Given the description of an element on the screen output the (x, y) to click on. 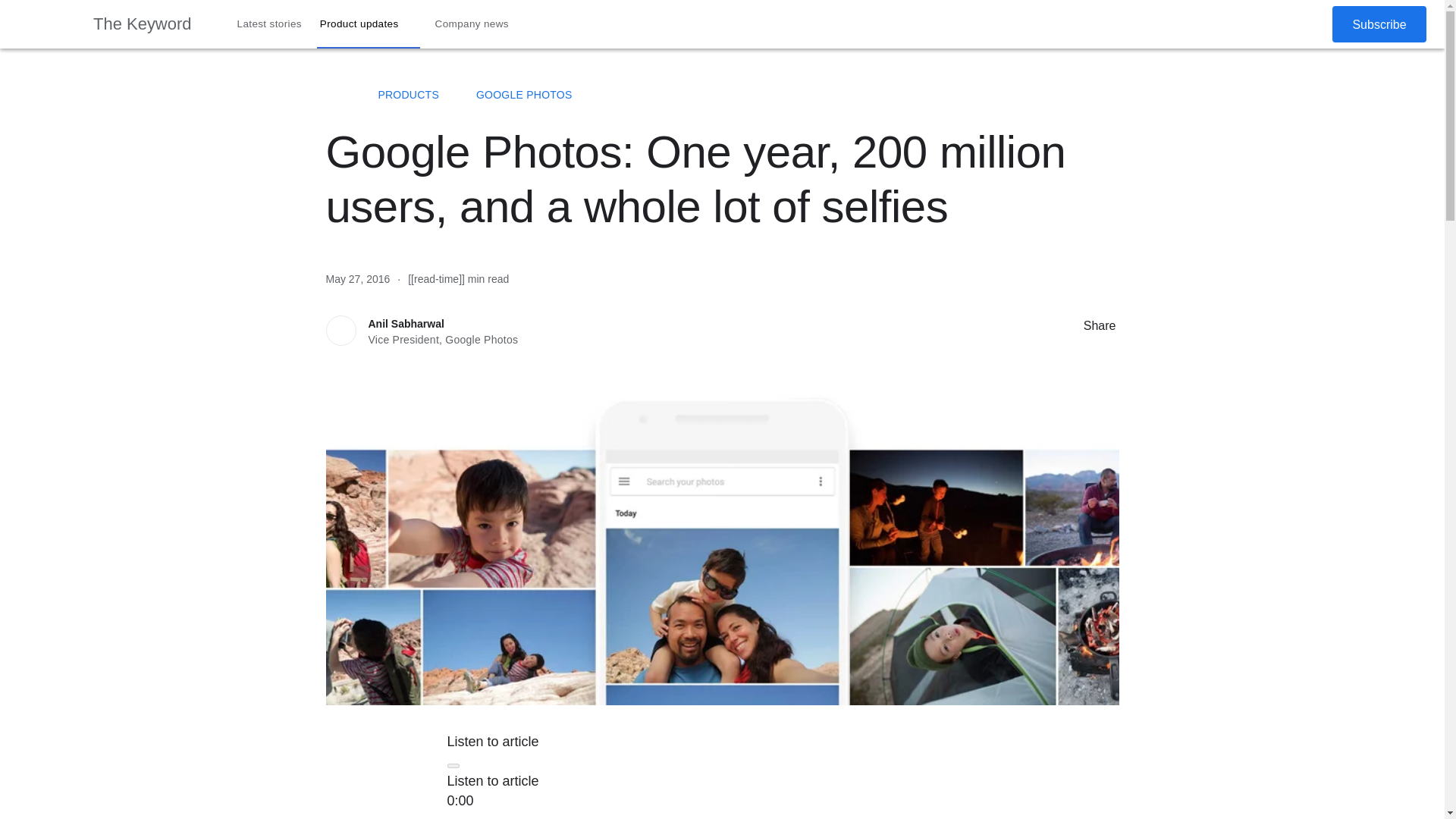
The Keyword (142, 24)
Latest stories (269, 24)
PRODUCTS GOOGLE PHOTOS (722, 94)
Share (1068, 325)
The Keyword (333, 94)
Google (46, 24)
Product updates (368, 24)
